Given the description of an element on the screen output the (x, y) to click on. 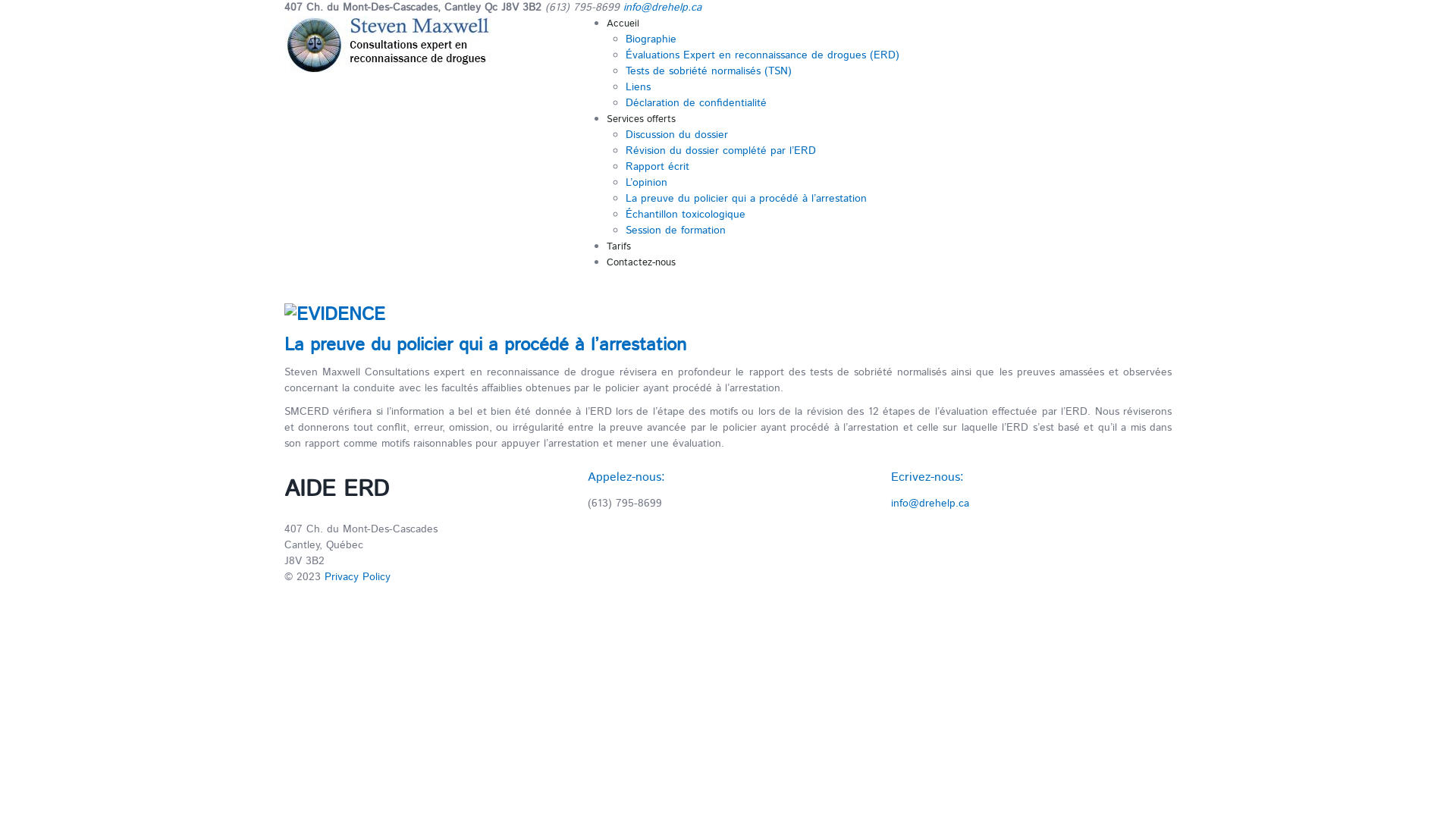
Contactez-nous Element type: text (640, 262)
Discussion du dossier Element type: text (676, 134)
Biographie Element type: text (650, 39)
Tarifs Element type: text (618, 246)
info@drehelp.ca Element type: text (662, 7)
Session de formation Element type: text (675, 230)
Services offerts Element type: text (640, 119)
Accueil Element type: text (622, 23)
info@drehelp.ca Element type: text (930, 503)
Liens Element type: text (637, 86)
Privacy Policy Element type: text (357, 576)
